Given the description of an element on the screen output the (x, y) to click on. 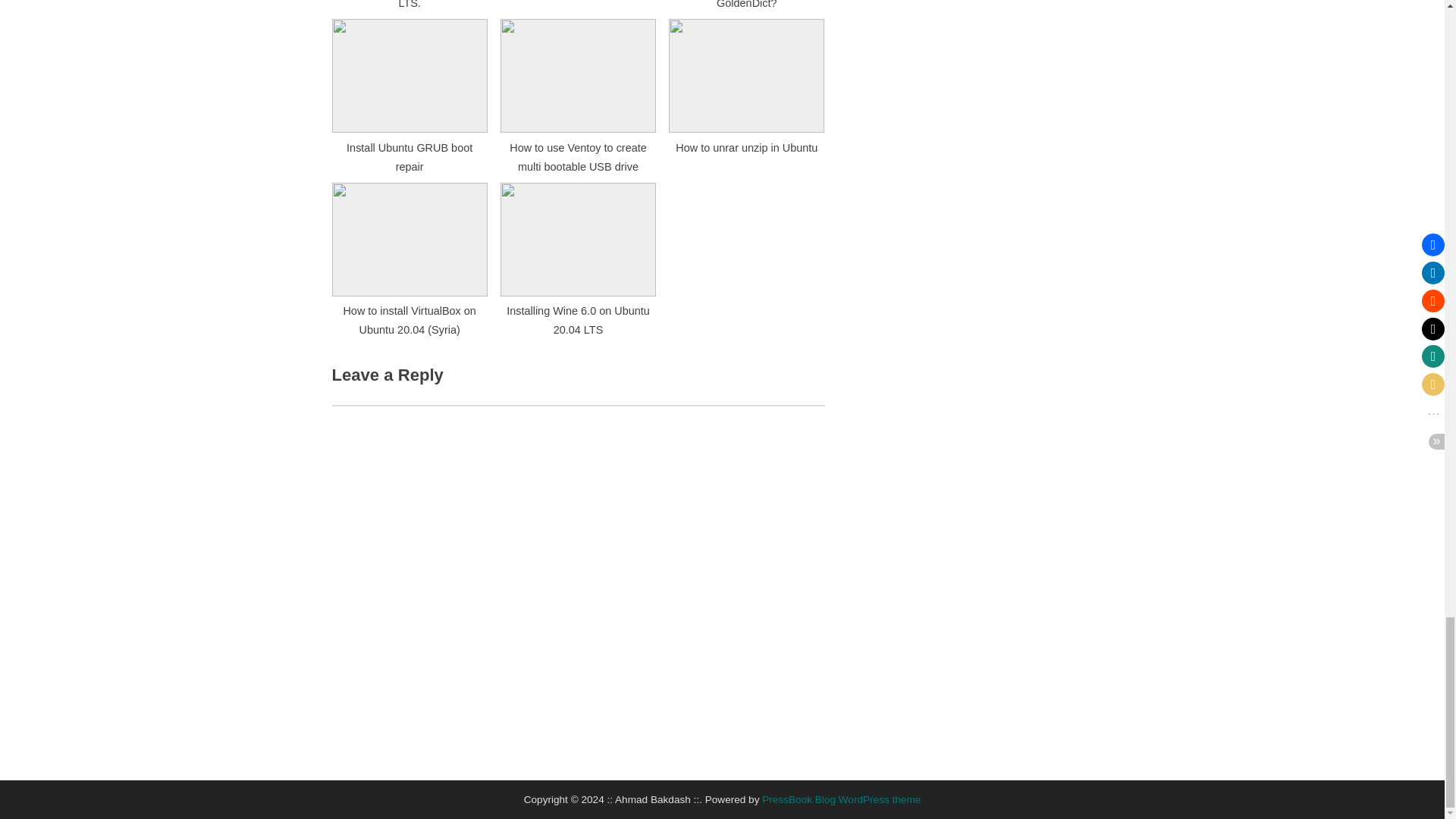
How to unrar unzip in Ubuntu (746, 90)
How to use Ventoy to create multi bootable USB drive (578, 90)
Install Ubuntu GRUB boot repair (409, 90)
Installing Wine 6.0 on Ubuntu 20.04 LTS (578, 254)
